Given the description of an element on the screen output the (x, y) to click on. 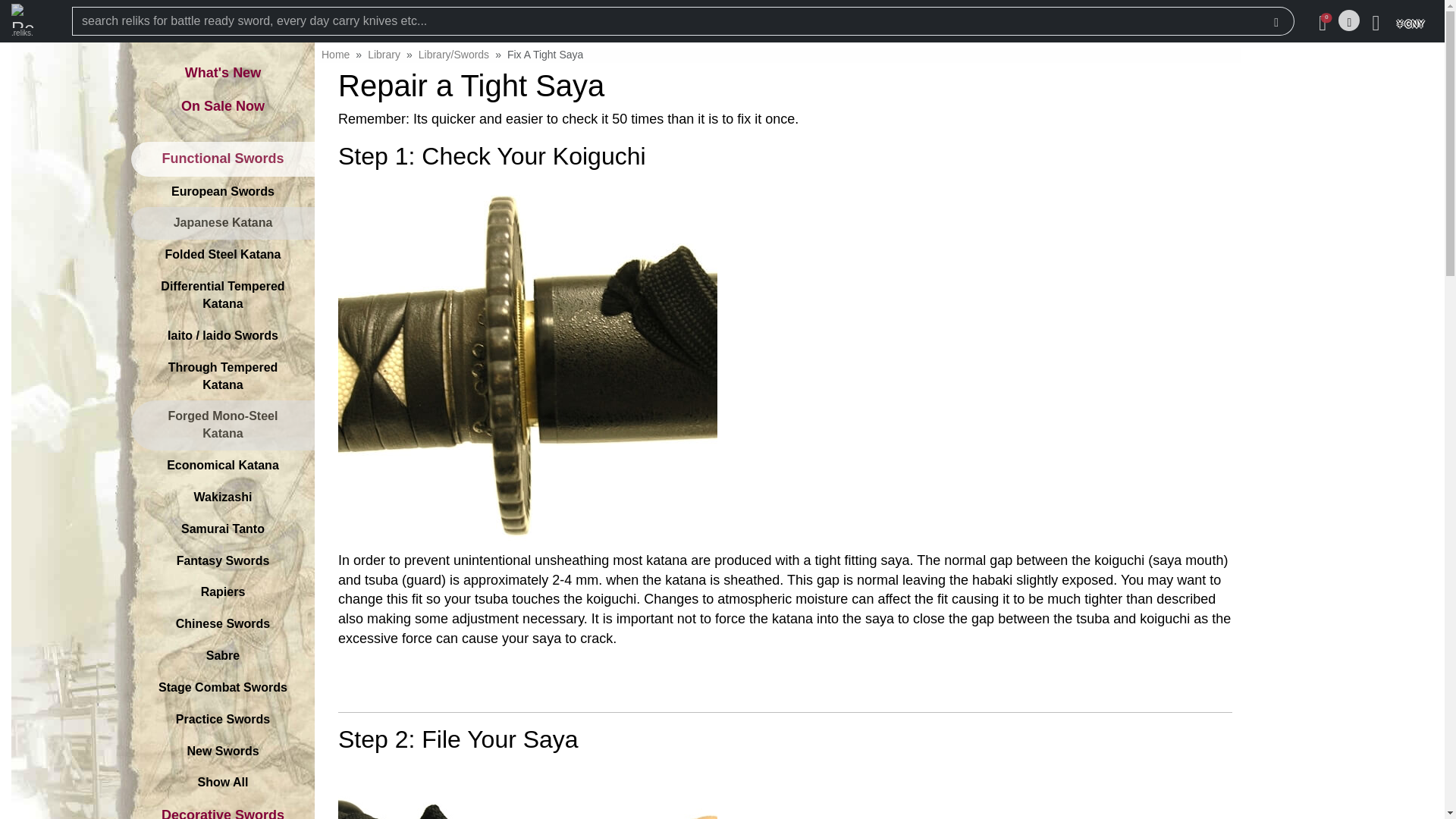
Library (384, 54)
Select A Currency (1409, 21)
Home (335, 54)
Library (384, 54)
Home (335, 54)
